Given the description of an element on the screen output the (x, y) to click on. 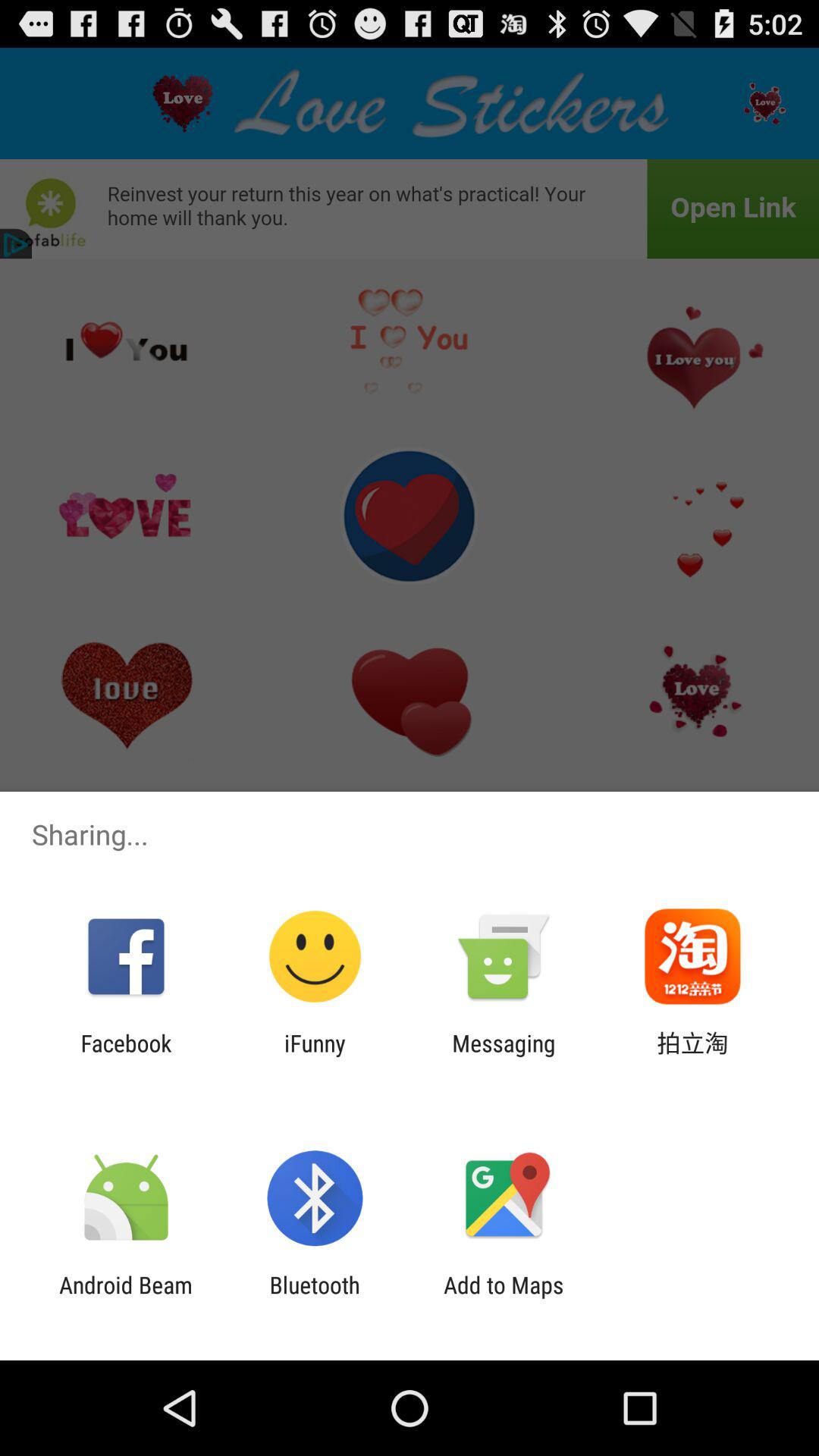
click app next to facebook icon (314, 1056)
